Given the description of an element on the screen output the (x, y) to click on. 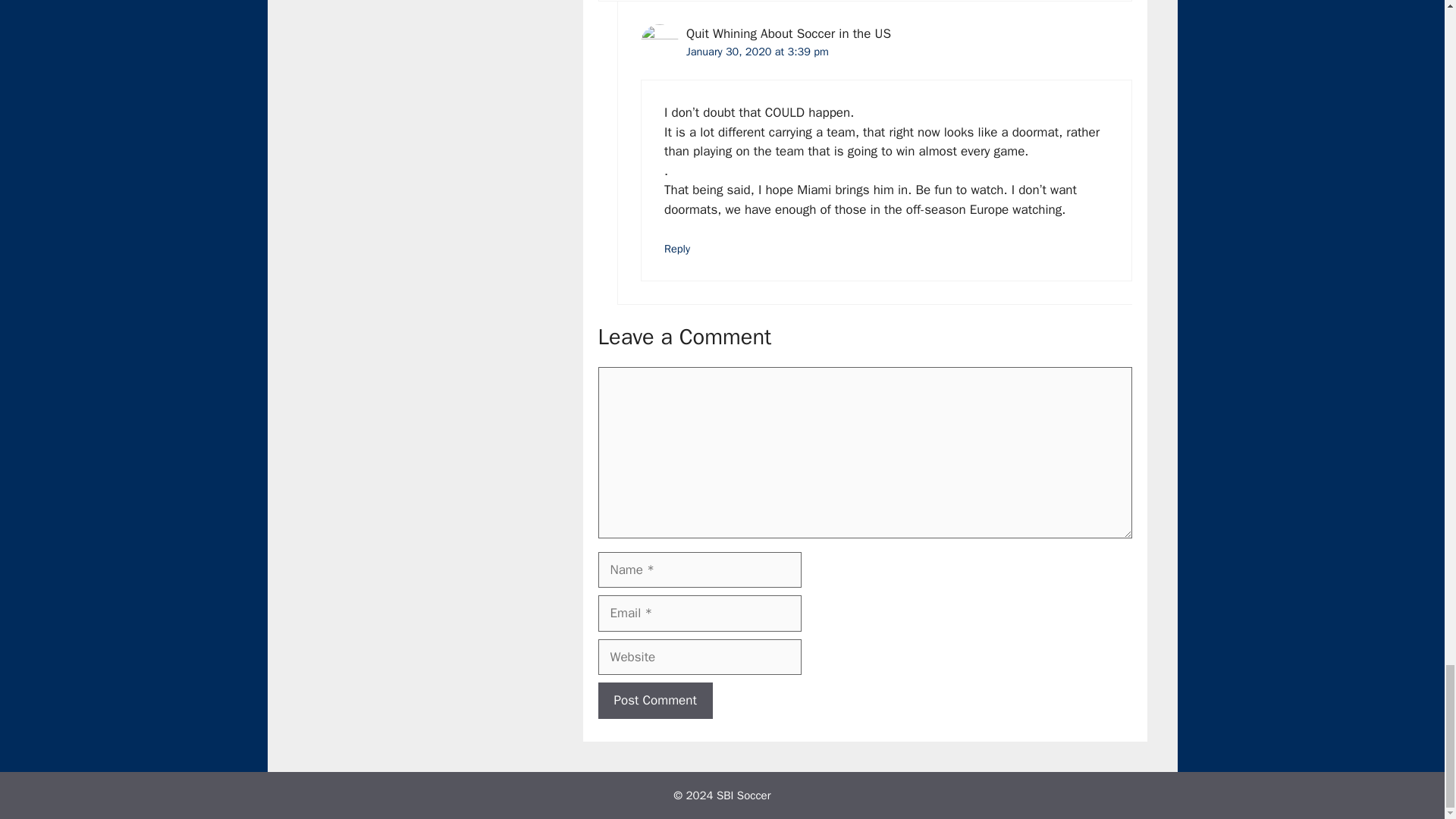
Post Comment (653, 700)
